Given the description of an element on the screen output the (x, y) to click on. 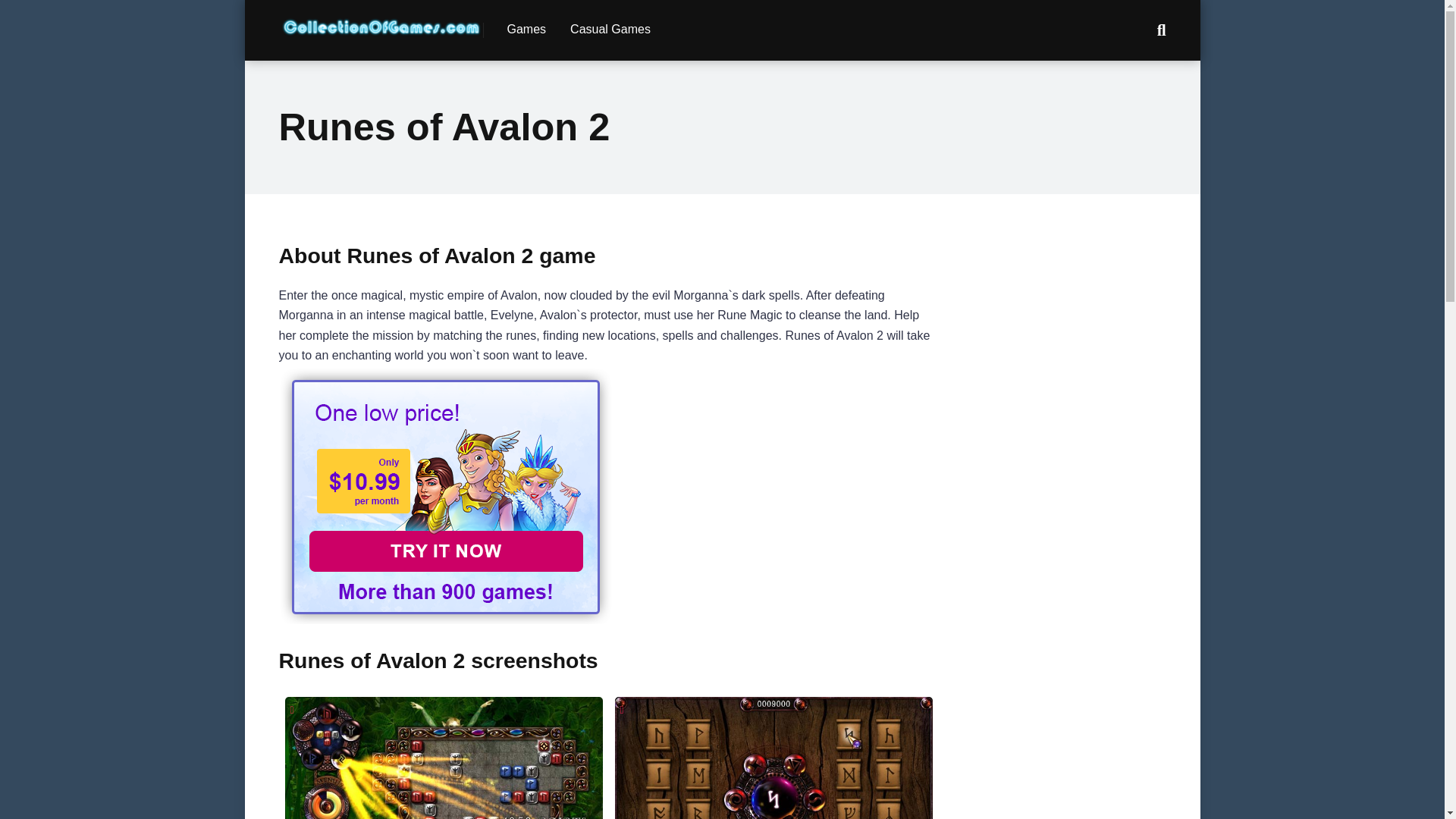
Casual Games (609, 30)
Games (526, 30)
More than 900 casual games! (445, 619)
CollectionOFGames (381, 21)
